Given the description of an element on the screen output the (x, y) to click on. 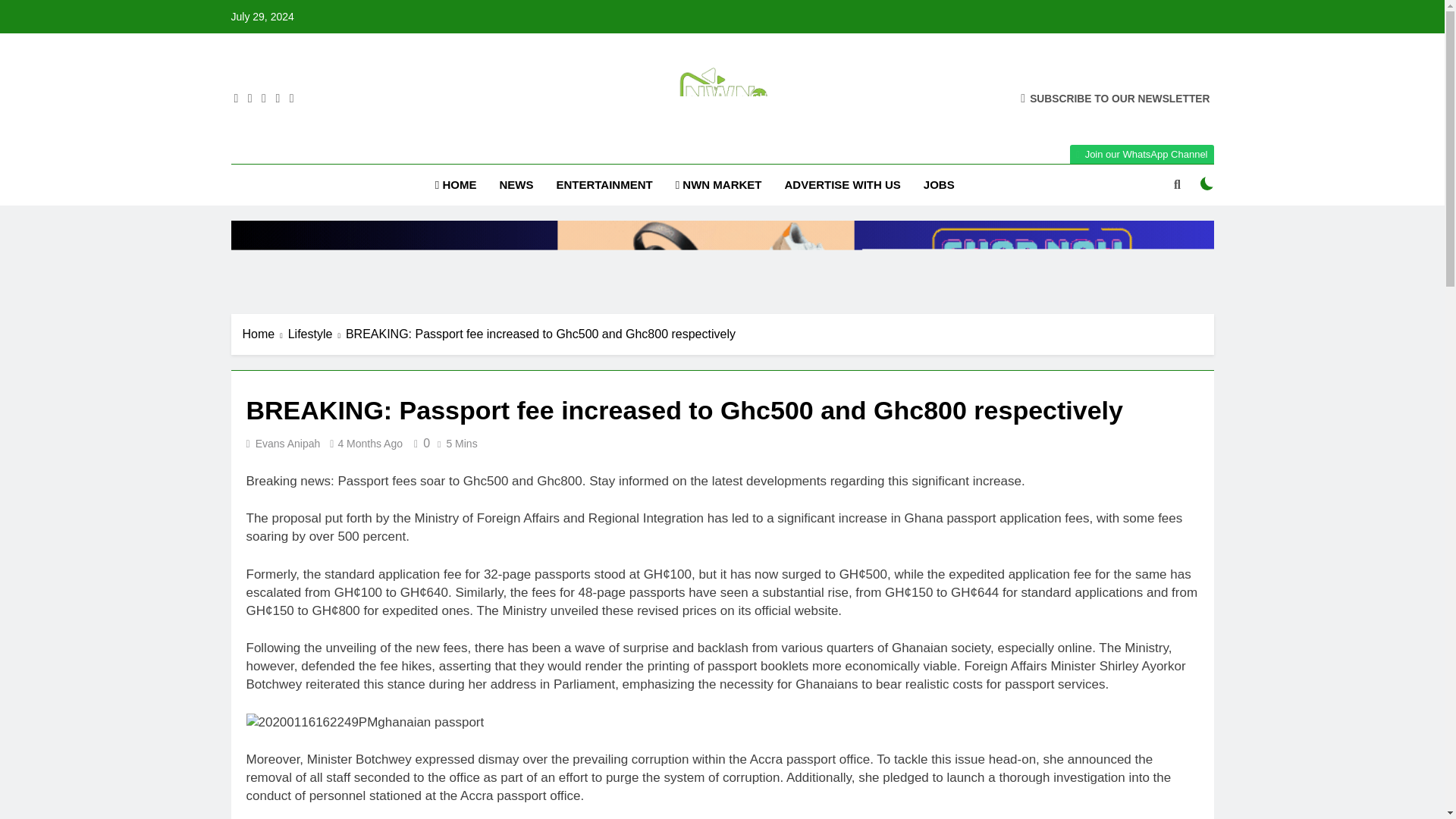
HOME (455, 184)
4 Months Ago (370, 443)
ADVERTISE WITH US (842, 184)
ENTERTAINMENT (603, 184)
SUBSCRIBE TO OUR NEWSLETTER (1114, 97)
on (1206, 183)
Lifestyle (317, 334)
JOBS (939, 184)
NEWS (515, 184)
Evans Anipah (288, 443)
NWN GH (553, 149)
Home (265, 334)
Join our WhatsApp Channel (1141, 154)
NWN MARKET (718, 184)
0 (419, 442)
